Given the description of an element on the screen output the (x, y) to click on. 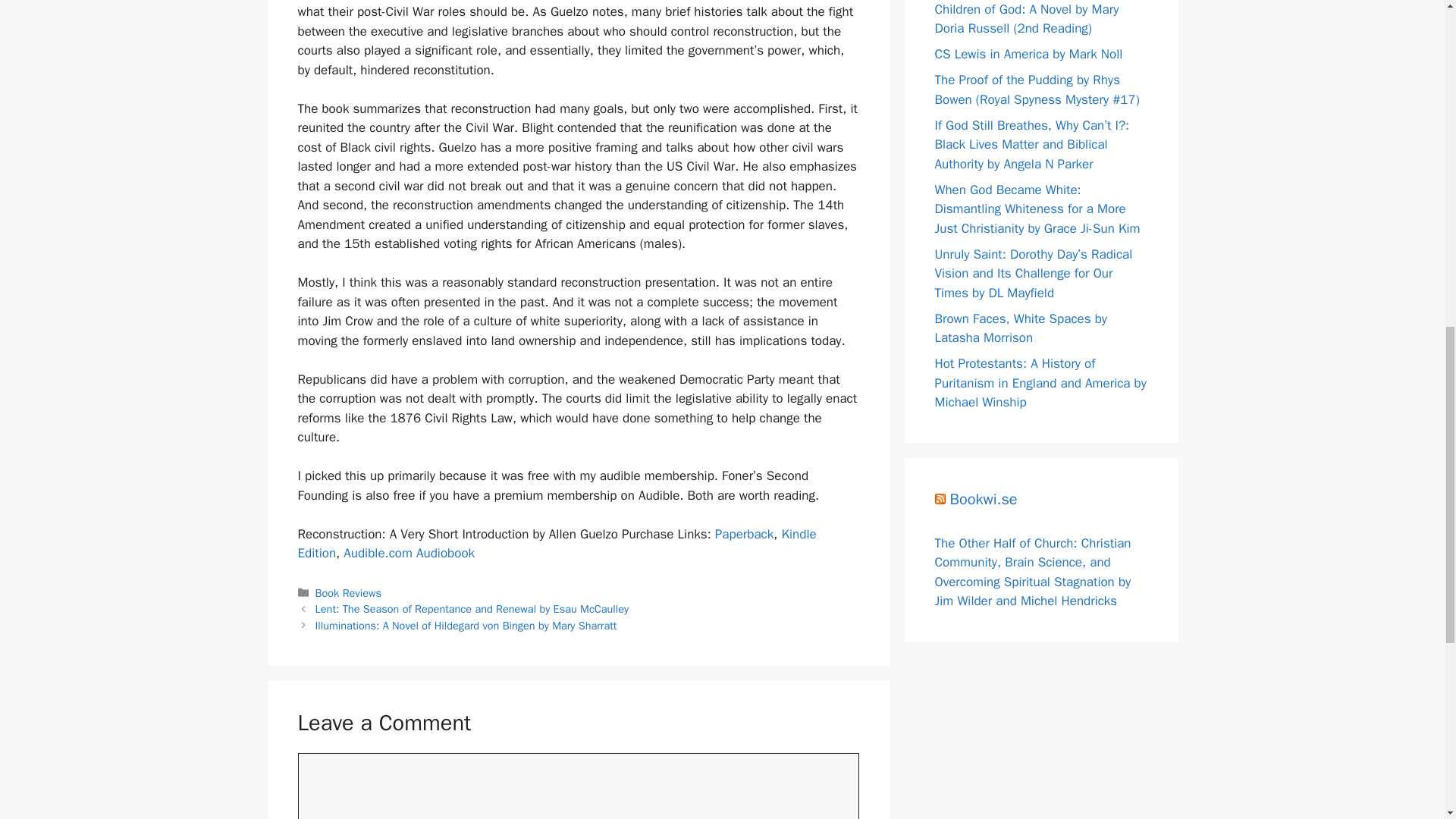
Audible.com Audiobook (408, 553)
Paperback (743, 534)
Book Reviews (348, 592)
CS Lewis in America by Mark Noll (1028, 53)
Kindle Edition (556, 543)
Lent: The Season of Repentance and Renewal by Esau McCaulley (471, 608)
Brown Faces, White Spaces by Latasha Morrison (1020, 328)
Bookwi.se (982, 498)
